Given the description of an element on the screen output the (x, y) to click on. 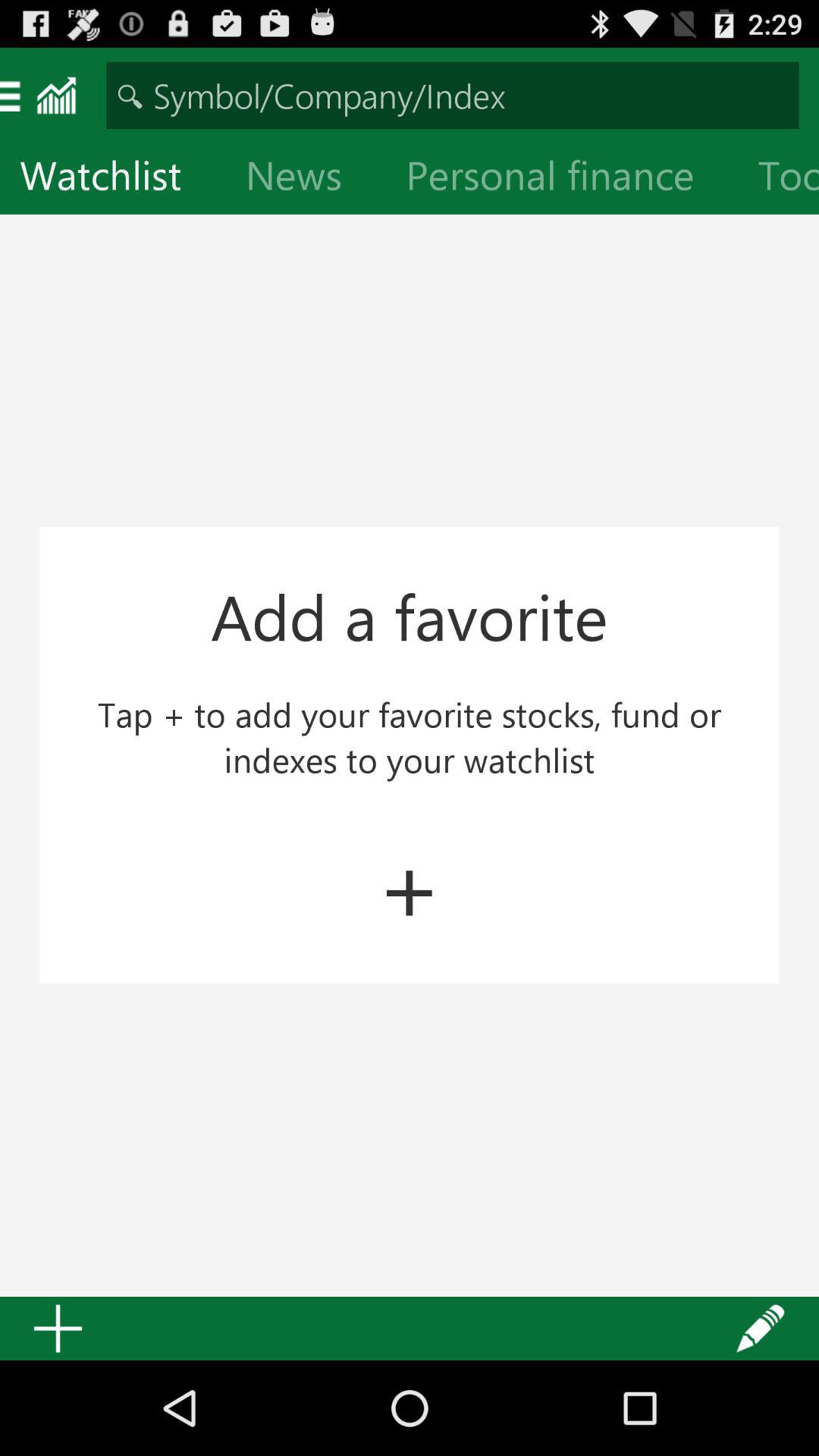
turn off the item at the bottom right corner (760, 1328)
